Given the description of an element on the screen output the (x, y) to click on. 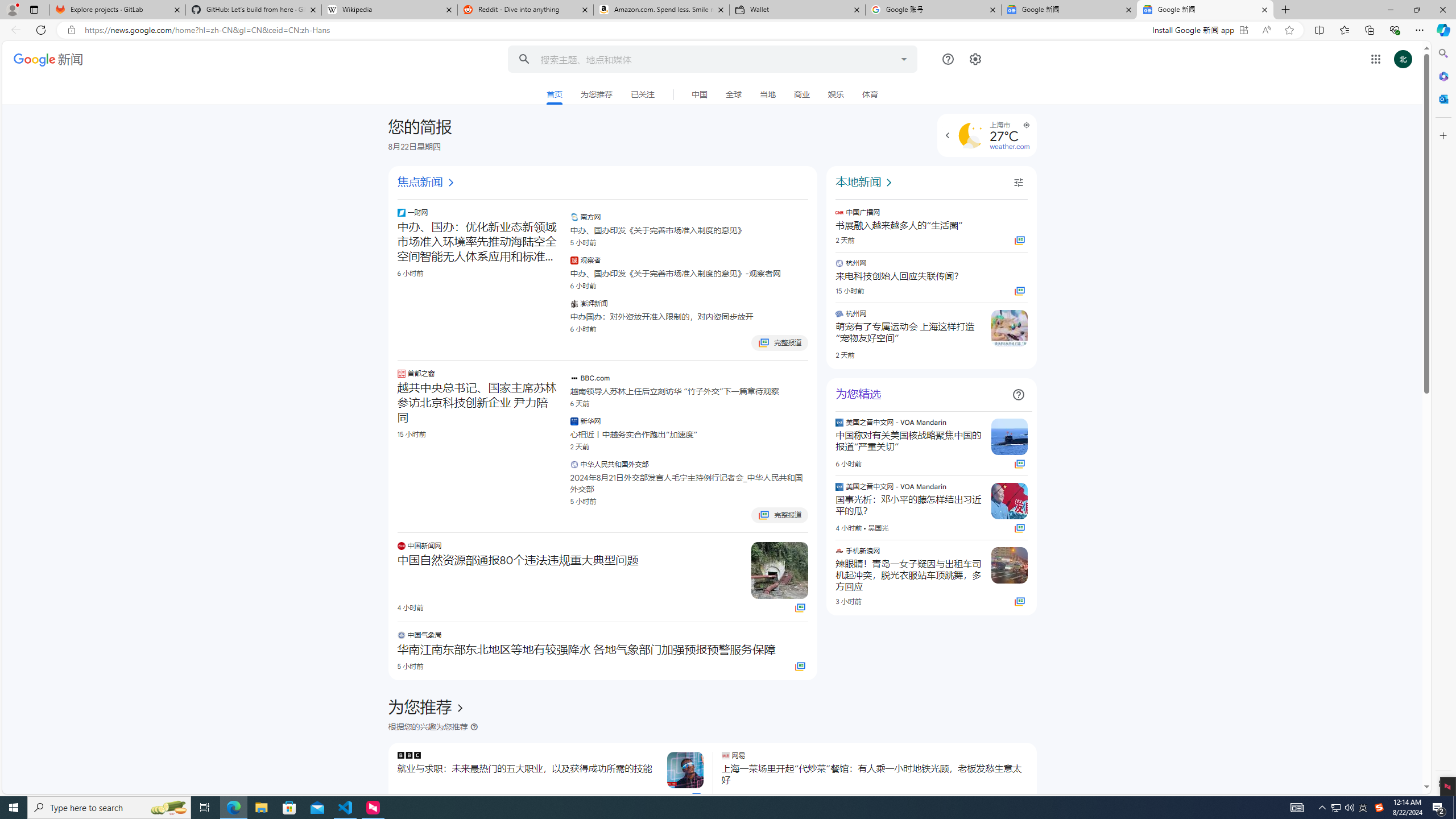
weather.com (1009, 146)
Class:  NMm5M hhikbc (947, 134)
